Given the description of an element on the screen output the (x, y) to click on. 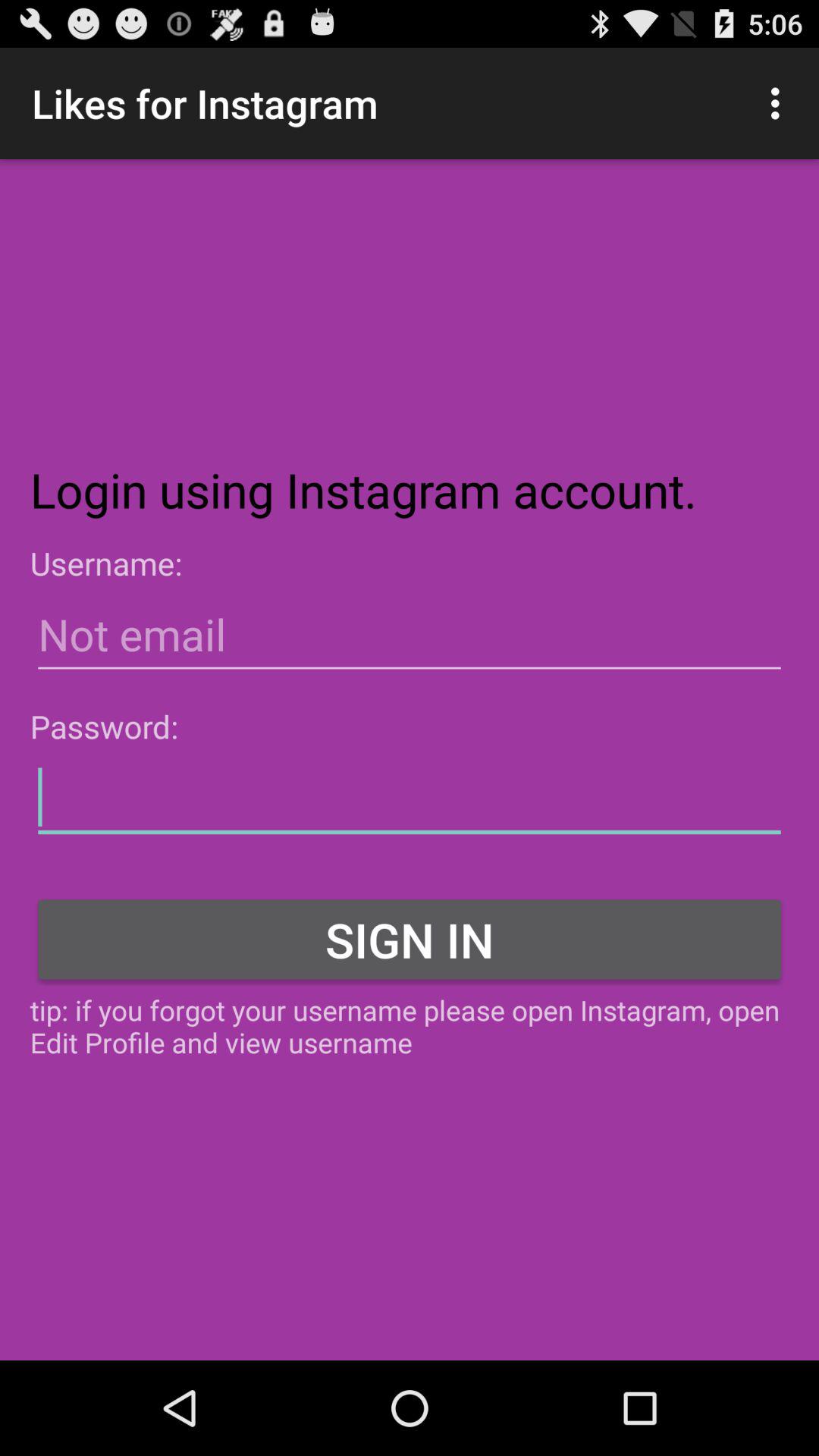
click icon above the tip if you (409, 939)
